Given the description of an element on the screen output the (x, y) to click on. 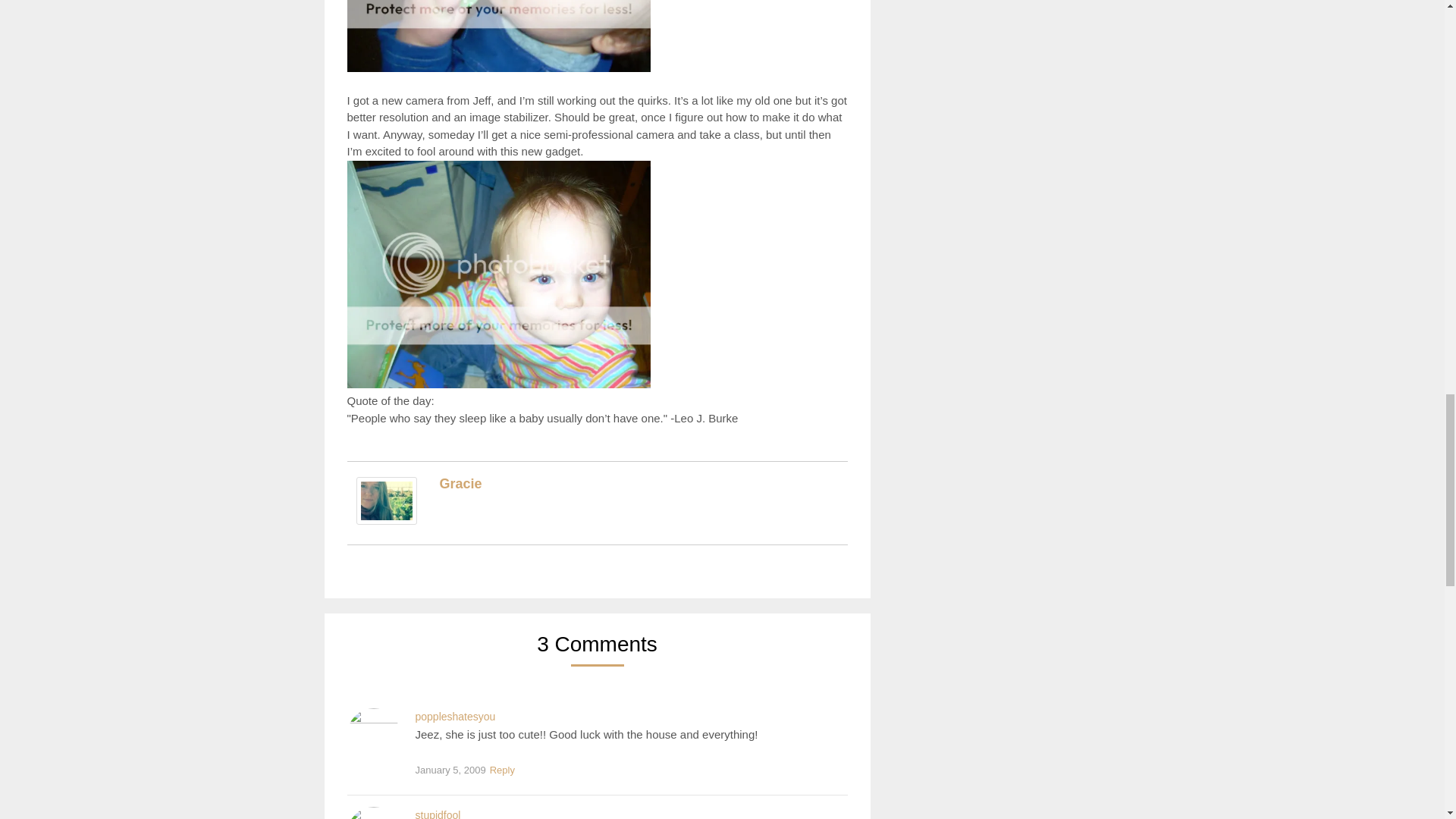
Gracie (386, 520)
stupidfool (437, 814)
Gracie (460, 483)
poppleshatesyou (455, 716)
Reply (502, 770)
